Given the description of an element on the screen output the (x, y) to click on. 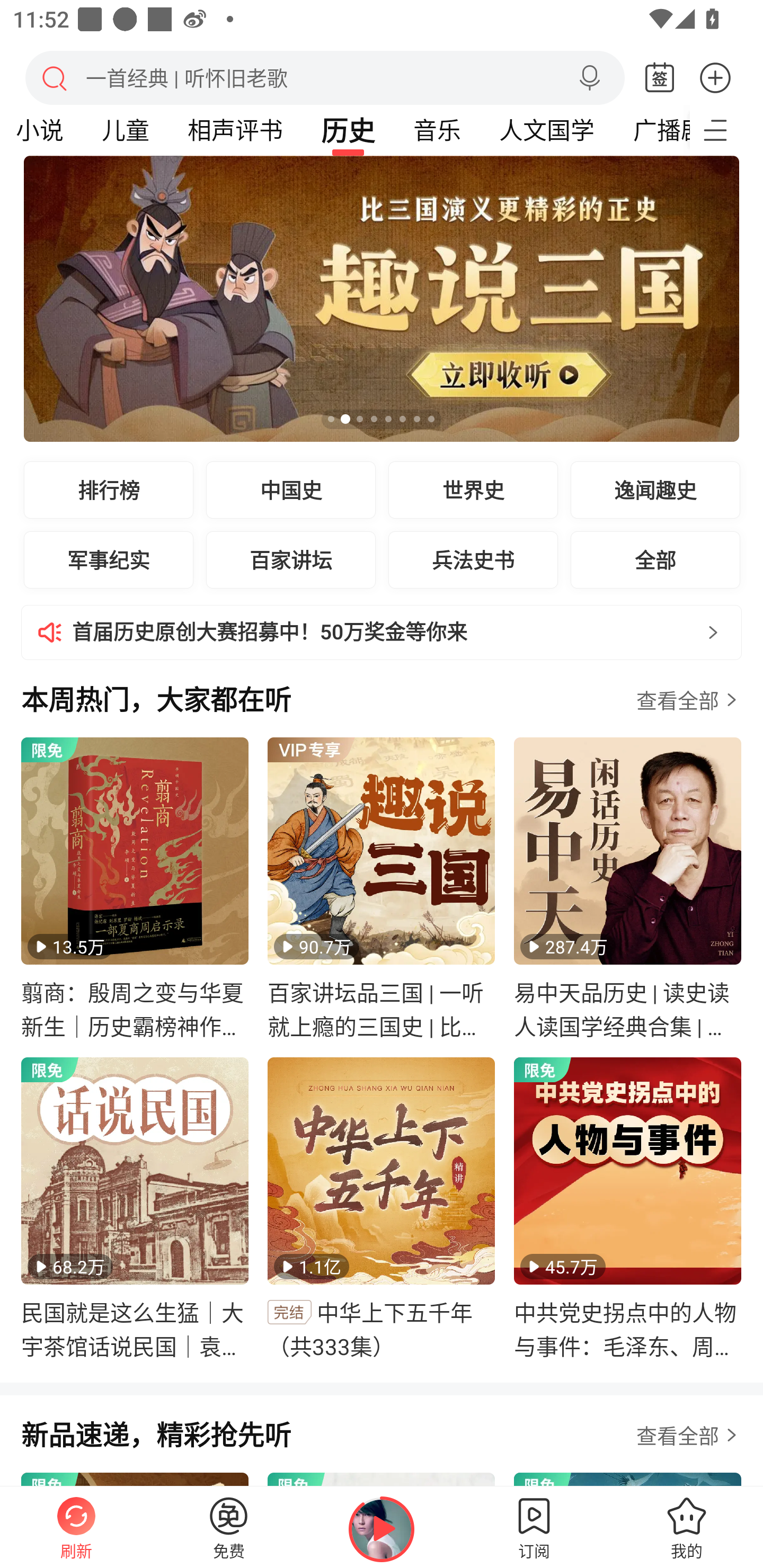
搜索 一首经典 | 听怀旧老歌 语音搜索 (324, 77)
更多 (714, 77)
签到 (659, 78)
语音搜索 (589, 78)
小说 (44, 130)
儿童 (125, 130)
相声评书 (235, 130)
历史 (348, 130)
音乐 (436, 130)
人文国学 (546, 130)
更多频道 (726, 130)
焦点图 (381, 298)
排行榜 (108, 489)
中国史 (290, 489)
世界史 (473, 489)
逸闻趣史 (655, 489)
军事纪实 (108, 559)
百家讲坛 (290, 559)
兵法史书 (473, 559)
全部 (655, 559)
首届历史原创大赛招募中！50万奖金等你来 (381, 632)
本周热门，大家都在听 查看全部 (381, 708)
查看全部 (677, 699)
专辑标签 90.7万 百家讲坛品三国 | 一听就上瘾的三国史 | 比三国演义更精彩的正史 (381, 888)
287.4万 易中天品历史 | 读史读人读国学经典合集 | 百家讲坛名师 | 中国史 | 名家讲学 (627, 888)
1.1亿   中华上下五千年（共333集） (381, 1208)
专辑标签 45.7万 中共党史拐点中的人物与事件：毛泽东、周恩来、华国锋、彭真、江青、聂元梓 (627, 1208)
新品速递，精彩抢先听 查看全部 (381, 1443)
查看全部 (677, 1434)
刷新 (76, 1526)
免费 (228, 1526)
订阅 (533, 1526)
我的 (686, 1526)
继续播放Alpha-橘子海OrangeOcean (381, 1529)
